Given the description of an element on the screen output the (x, y) to click on. 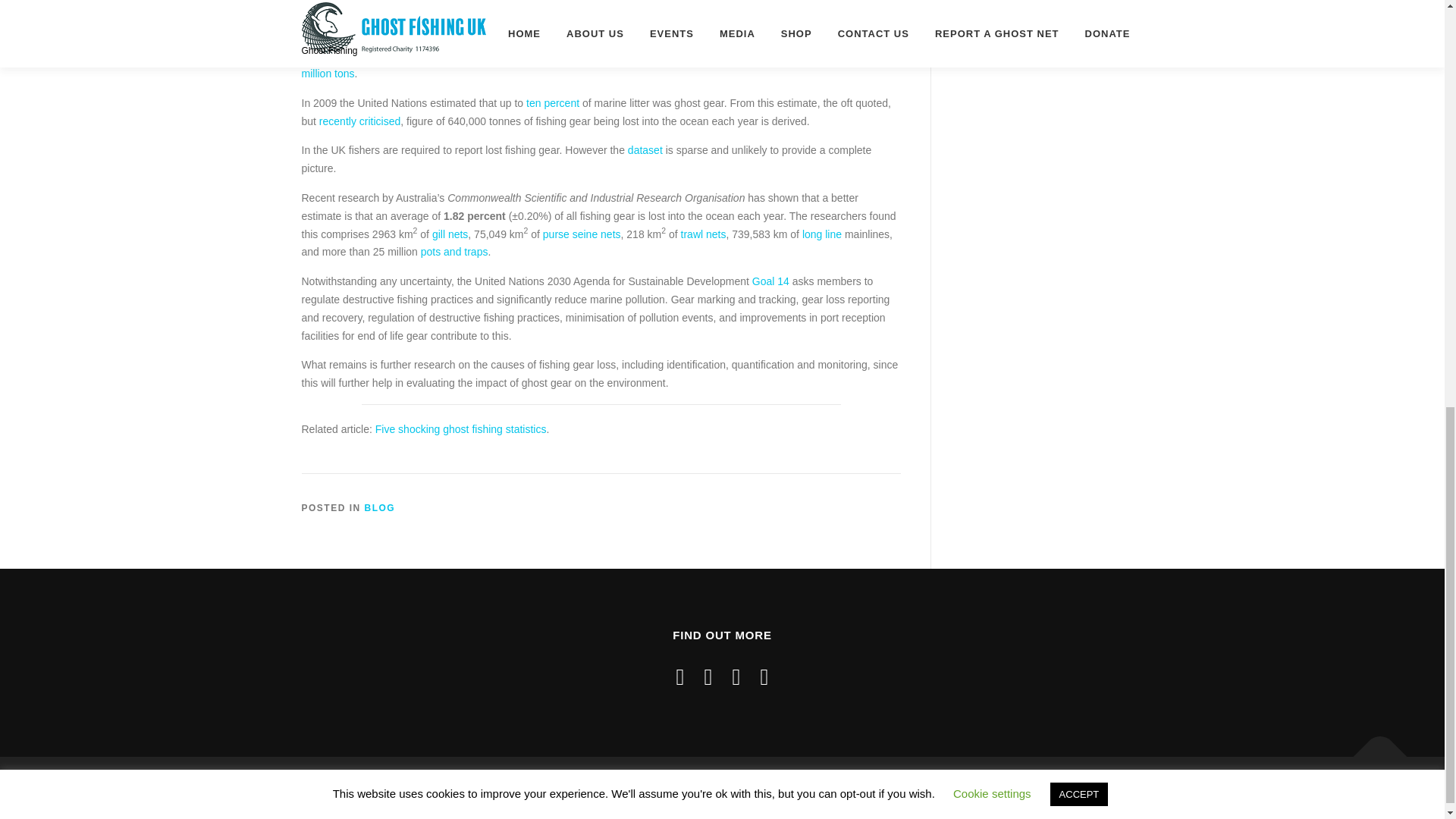
6.4 million tons (600, 64)
dataset (644, 150)
1350 tons (768, 37)
trawl nets (703, 234)
purse seine nets (582, 234)
Facebook (680, 676)
ten percent (552, 102)
Back To Top (1372, 748)
Twitter (764, 676)
Instagram (708, 676)
recently criticised (359, 121)
gill nets (449, 234)
Flickr (736, 676)
